Given the description of an element on the screen output the (x, y) to click on. 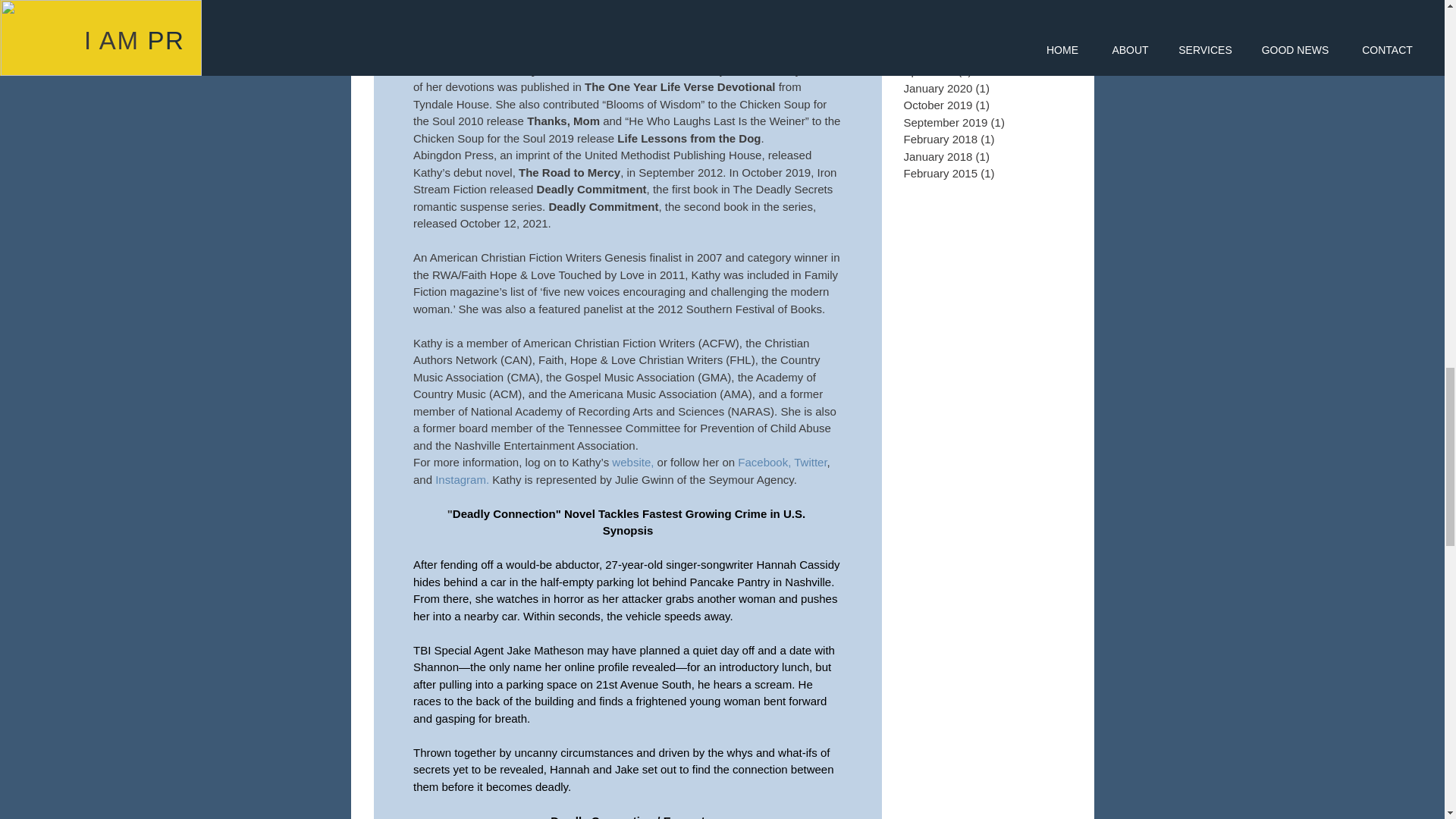
website (630, 461)
Instagram (460, 479)
Twitter (810, 461)
Facebook (762, 461)
